Given the description of an element on the screen output the (x, y) to click on. 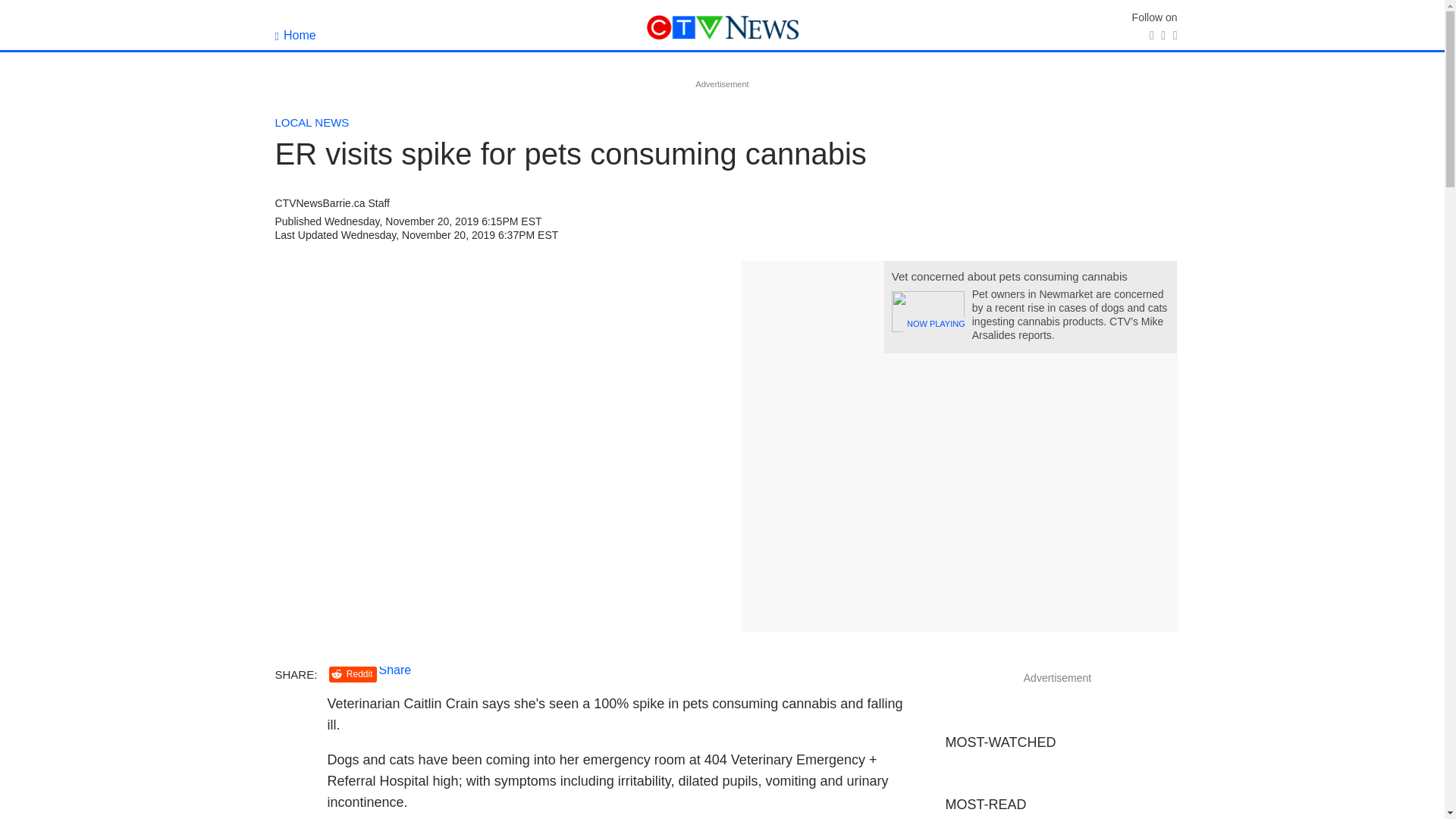
Reddit (353, 674)
  NOW PLAYING (927, 311)
Home (295, 34)
Vet concerned about pets consuming cannabis (1008, 276)
LOCAL NEWS (312, 122)
Share (395, 669)
